Given the description of an element on the screen output the (x, y) to click on. 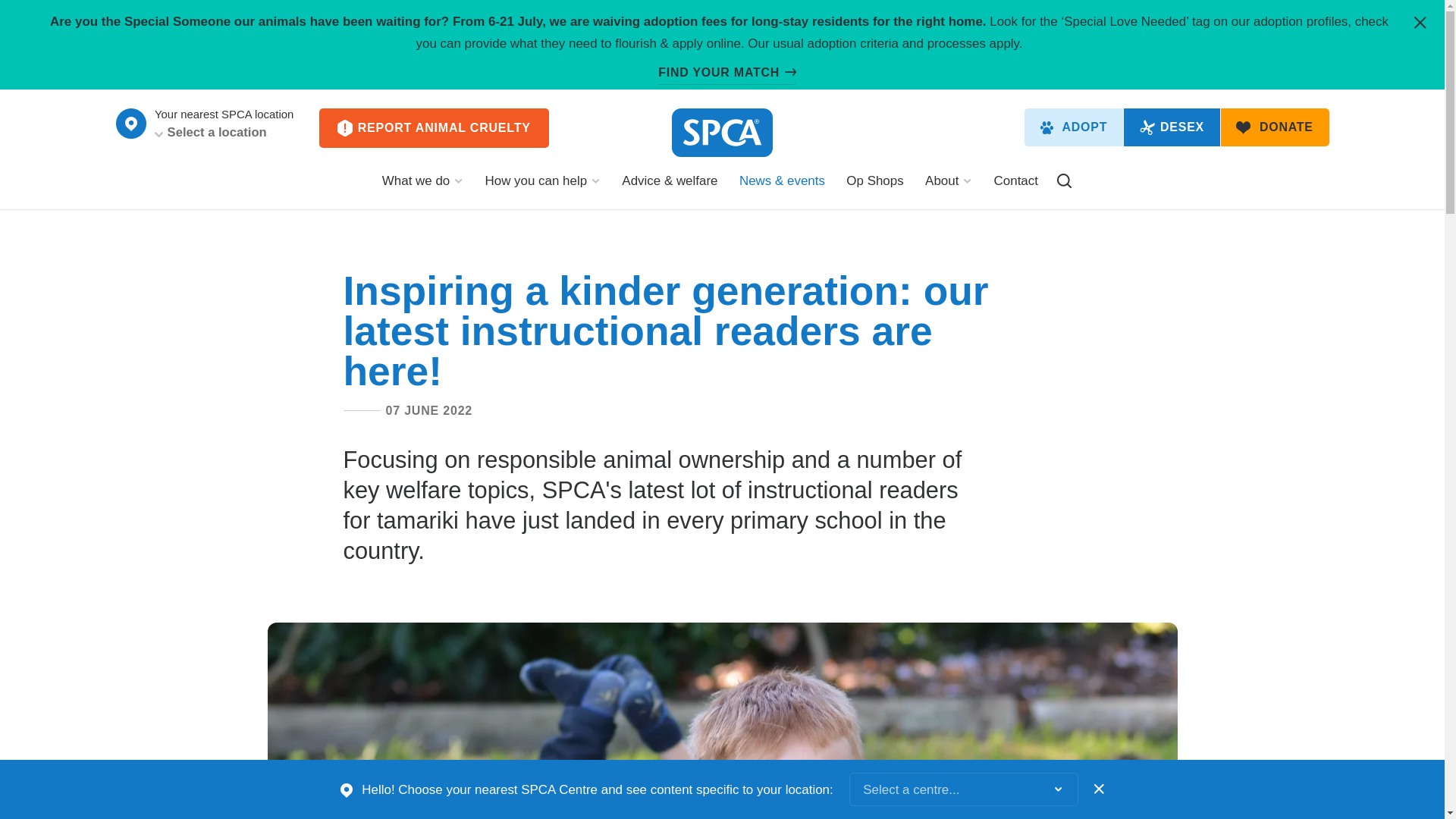
Op Shops (874, 188)
DESEX (1172, 126)
How you can help (543, 188)
Choose a centre (130, 123)
SPCA New Zealand (722, 132)
Dismiss (1098, 789)
Close (1420, 22)
Search our site (1064, 180)
FIND YOUR MATCH (726, 73)
ADOPT (1073, 126)
Choose a centre (130, 123)
DONATE (1275, 126)
What we do (421, 188)
REPORT ANIMAL CRUELTY (433, 128)
